Given the description of an element on the screen output the (x, y) to click on. 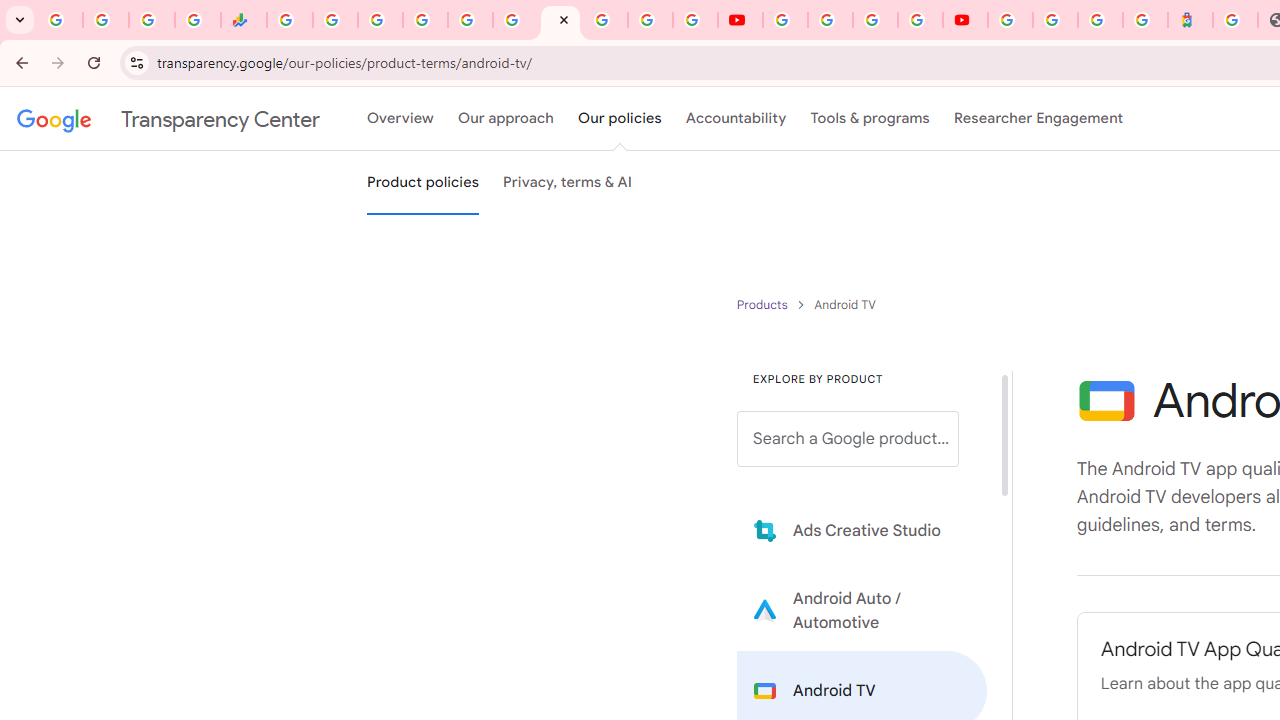
Privacy, terms & AI (568, 183)
Create your Google Account (875, 20)
Learn more about Ads Creative Studio (862, 530)
Content Creator Programs & Opportunities - YouTube Creators (965, 20)
YouTube (740, 20)
YouTube (784, 20)
Learn more about Android Auto (862, 610)
